Given the description of an element on the screen output the (x, y) to click on. 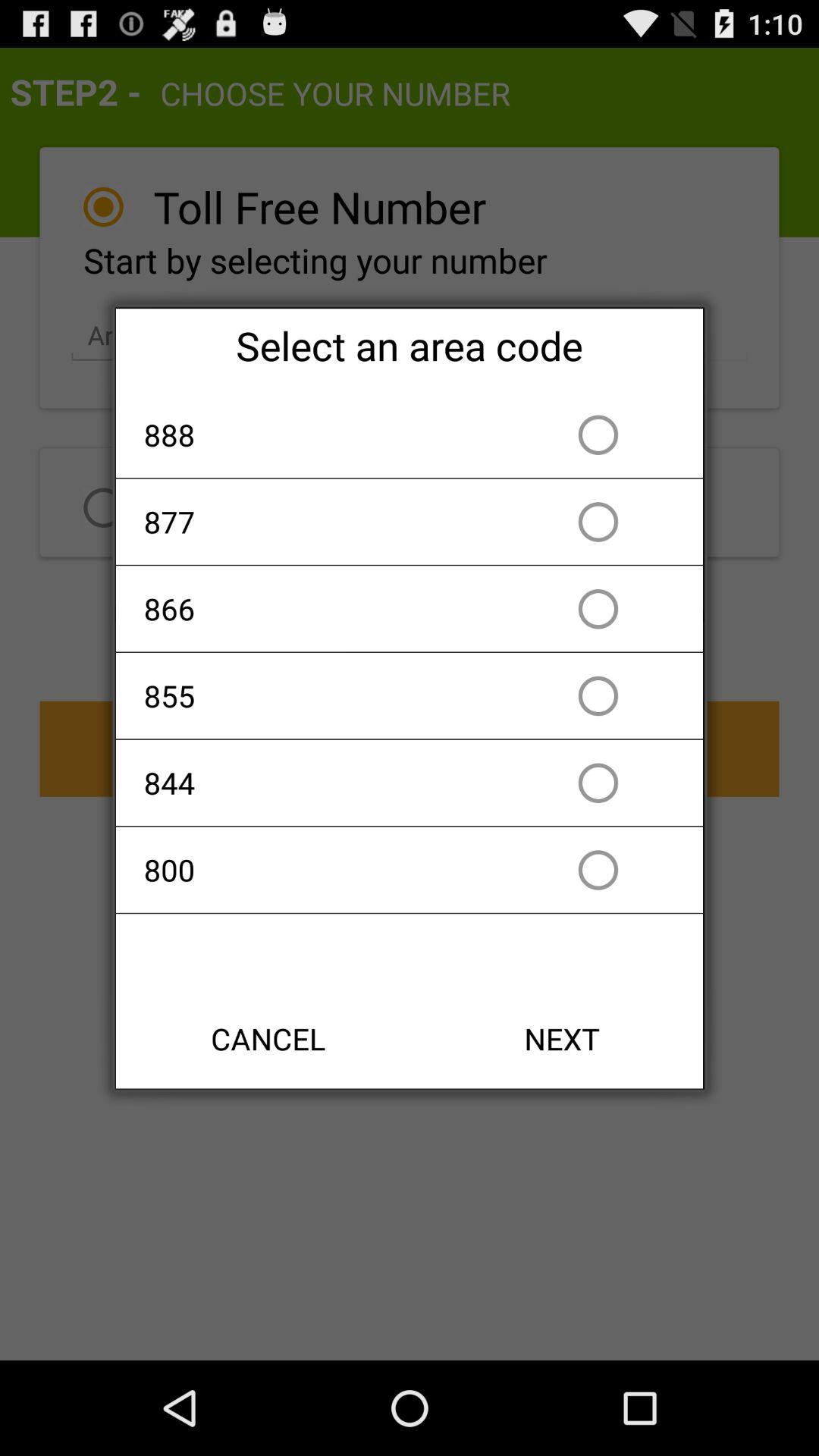
turn off the icon above the next item (322, 869)
